Given the description of an element on the screen output the (x, y) to click on. 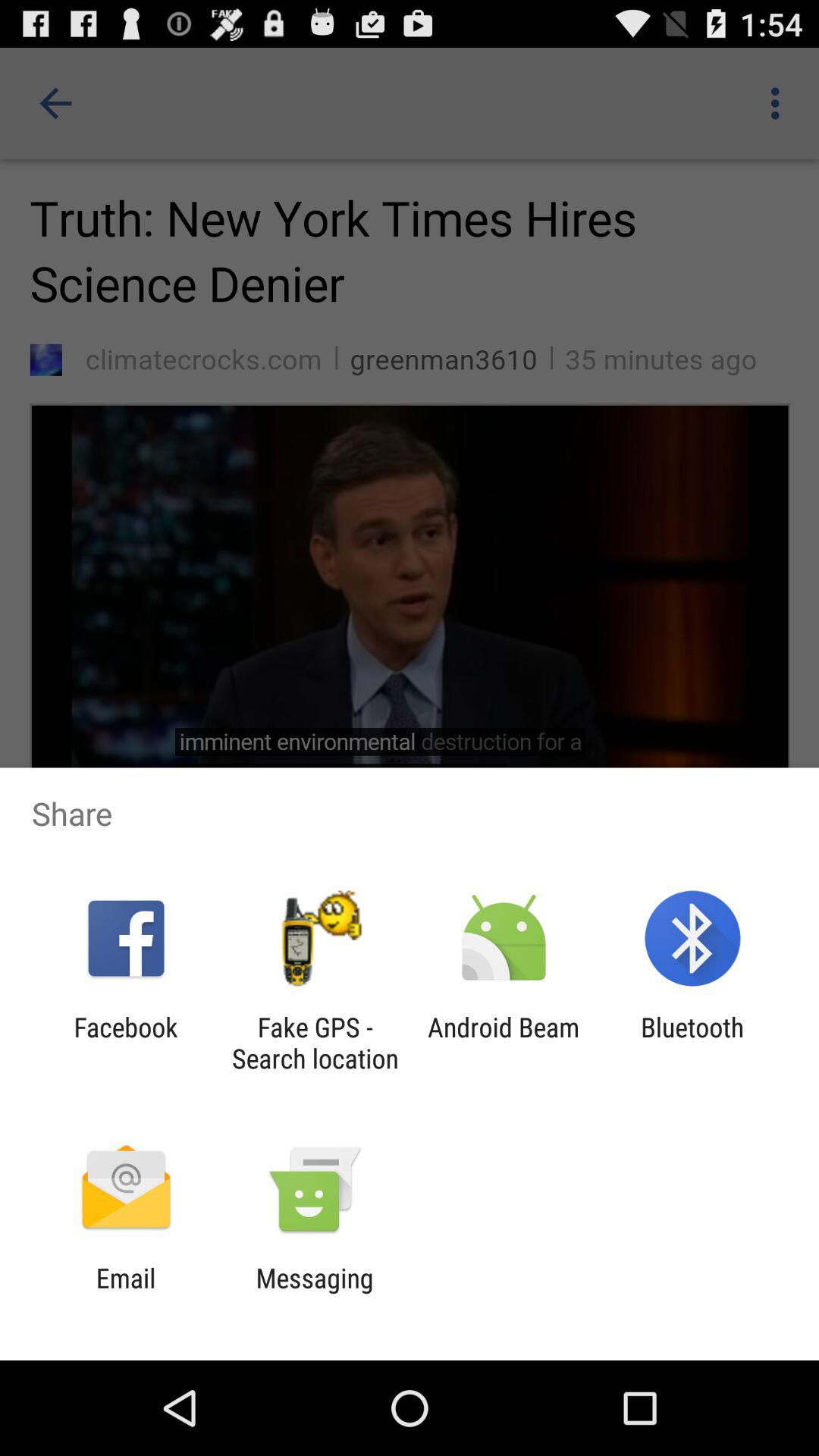
open the bluetooth app (691, 1042)
